Given the description of an element on the screen output the (x, y) to click on. 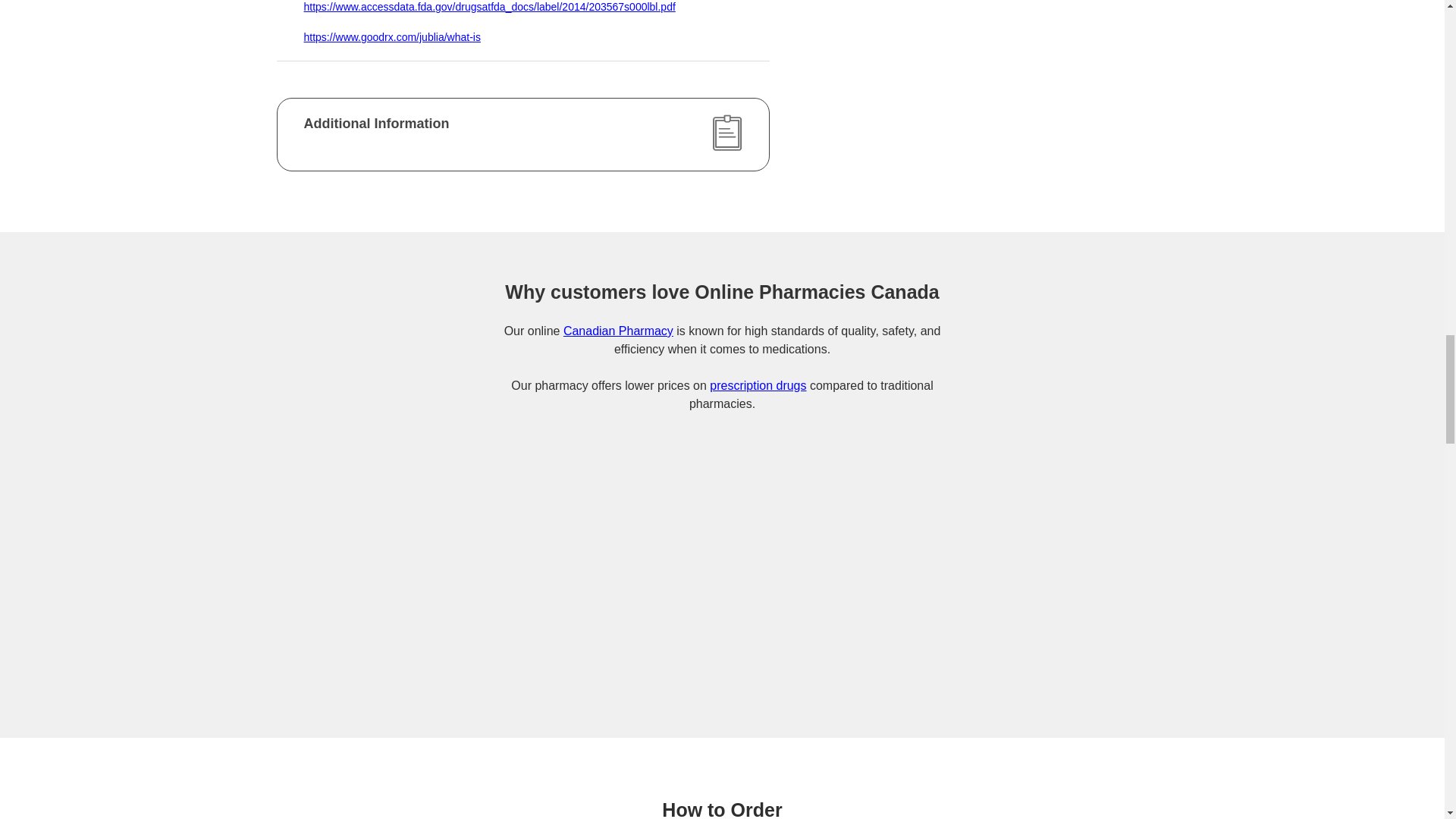
Reviews (1187, 615)
Canadian pharmacy (617, 330)
Prescription drugs from Canada (758, 385)
